Given the description of an element on the screen output the (x, y) to click on. 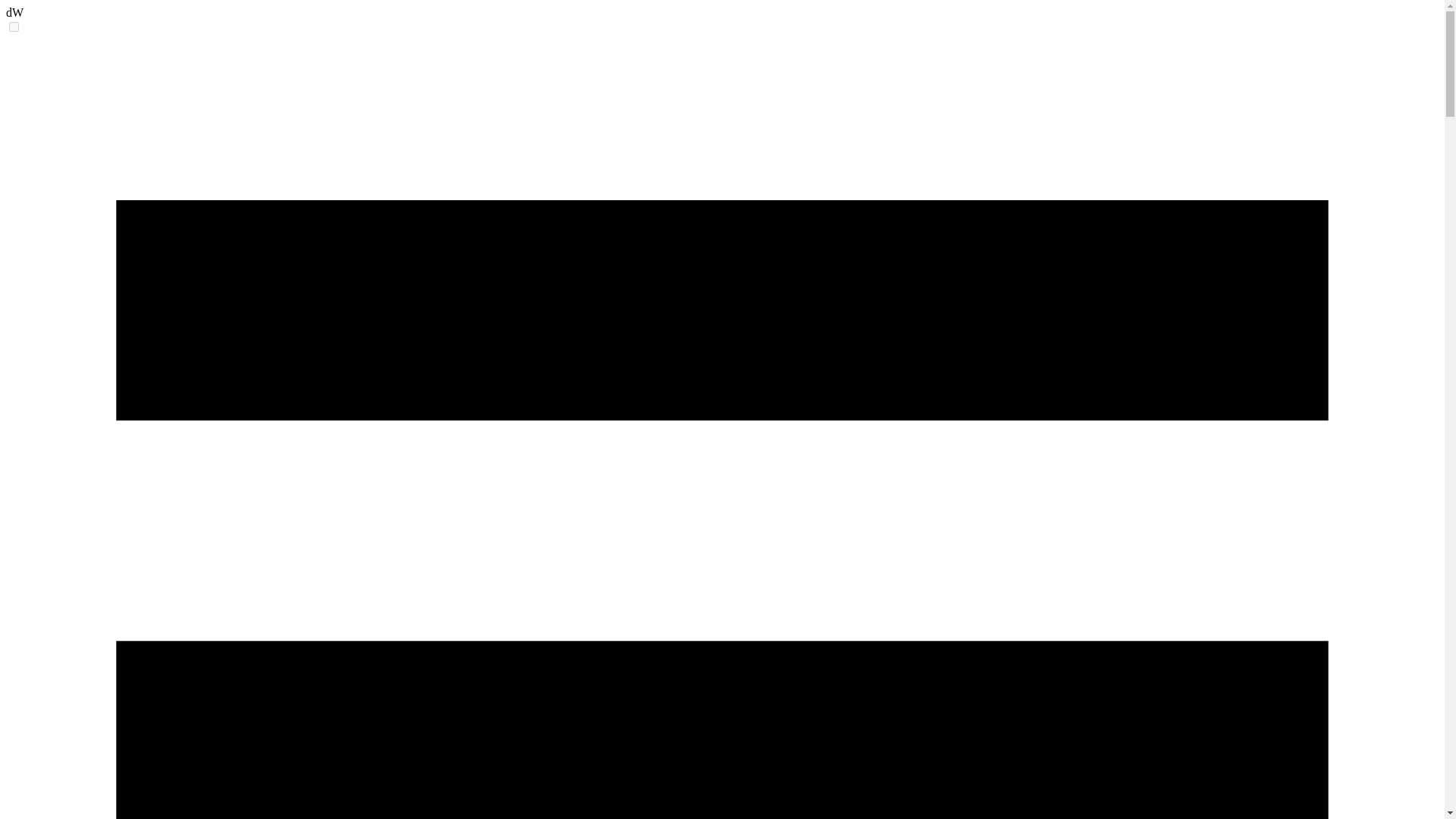
on (13, 26)
